Given the description of an element on the screen output the (x, y) to click on. 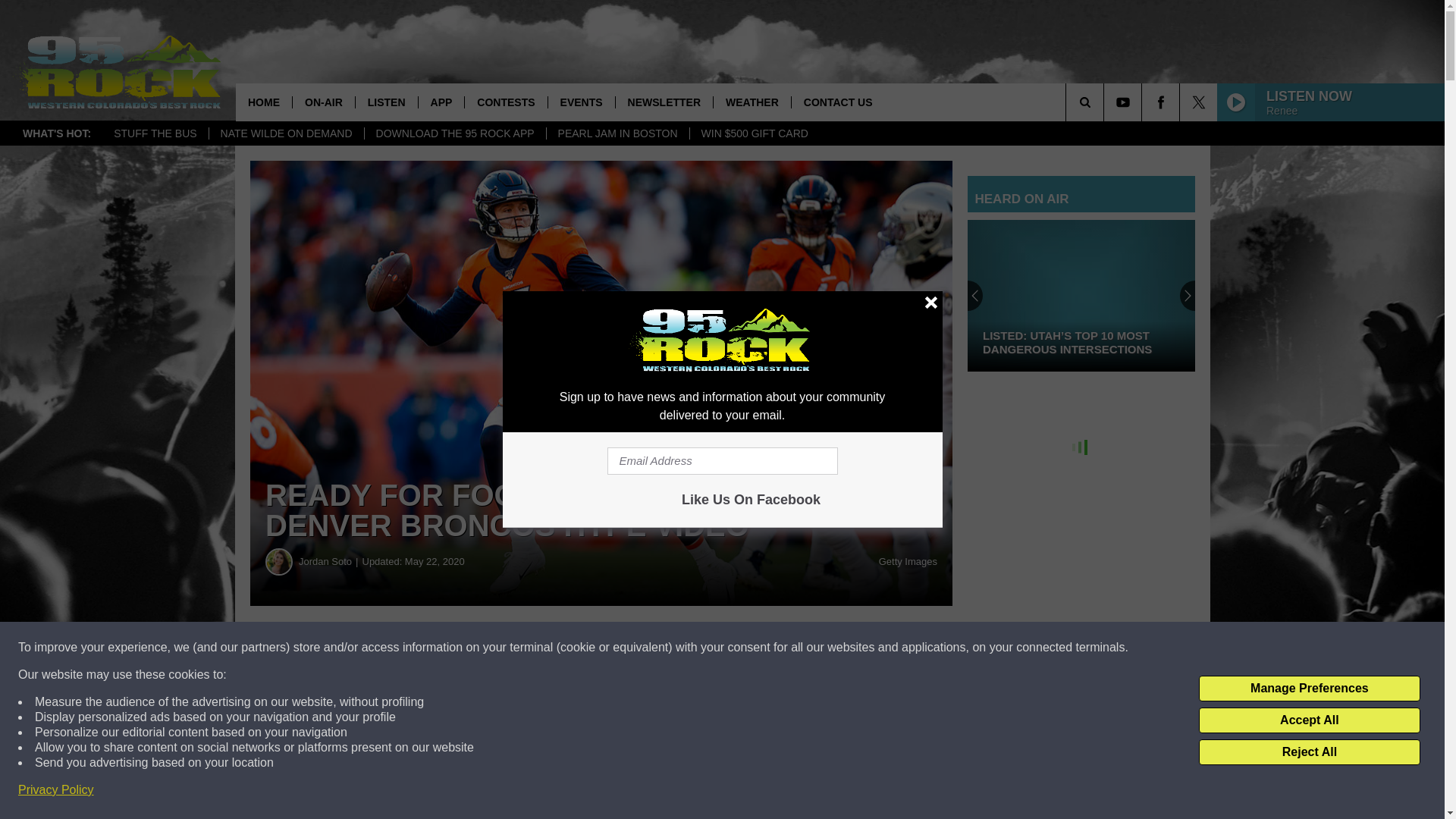
Share on Facebook (460, 647)
WHAT'S HOT: (56, 133)
LISTEN (386, 102)
Share on Twitter (741, 647)
DOWNLOAD THE 95 ROCK APP (455, 133)
SEARCH (1106, 102)
Privacy Policy (55, 789)
STUFF THE BUS (154, 133)
Reject All (1309, 751)
APP (440, 102)
NATE WILDE ON DEMAND (286, 133)
Email Address (722, 461)
ON-AIR (323, 102)
SEARCH (1106, 102)
PEARL JAM IN BOSTON (617, 133)
